Given the description of an element on the screen output the (x, y) to click on. 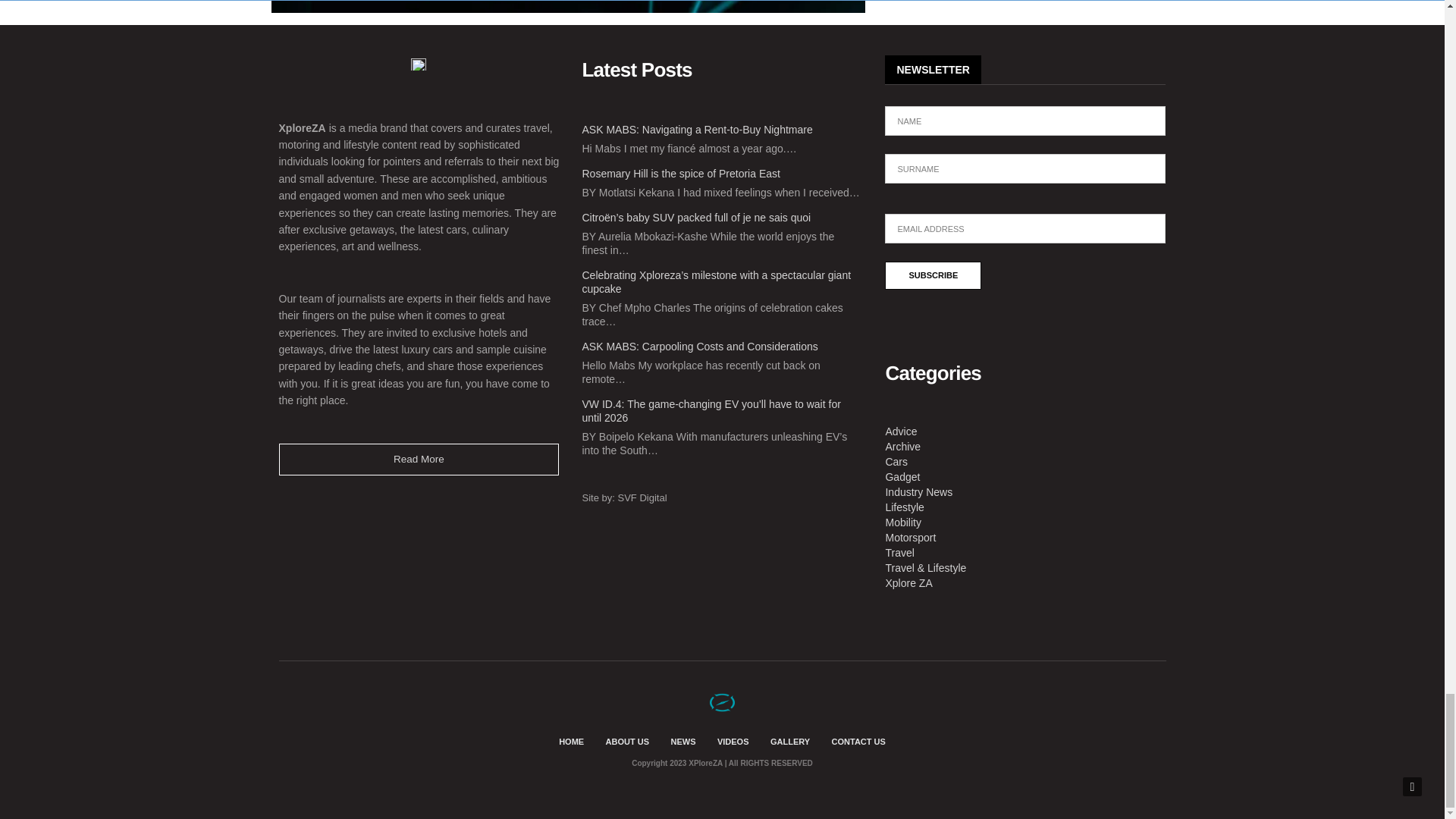
Subscribe (933, 275)
